Given the description of an element on the screen output the (x, y) to click on. 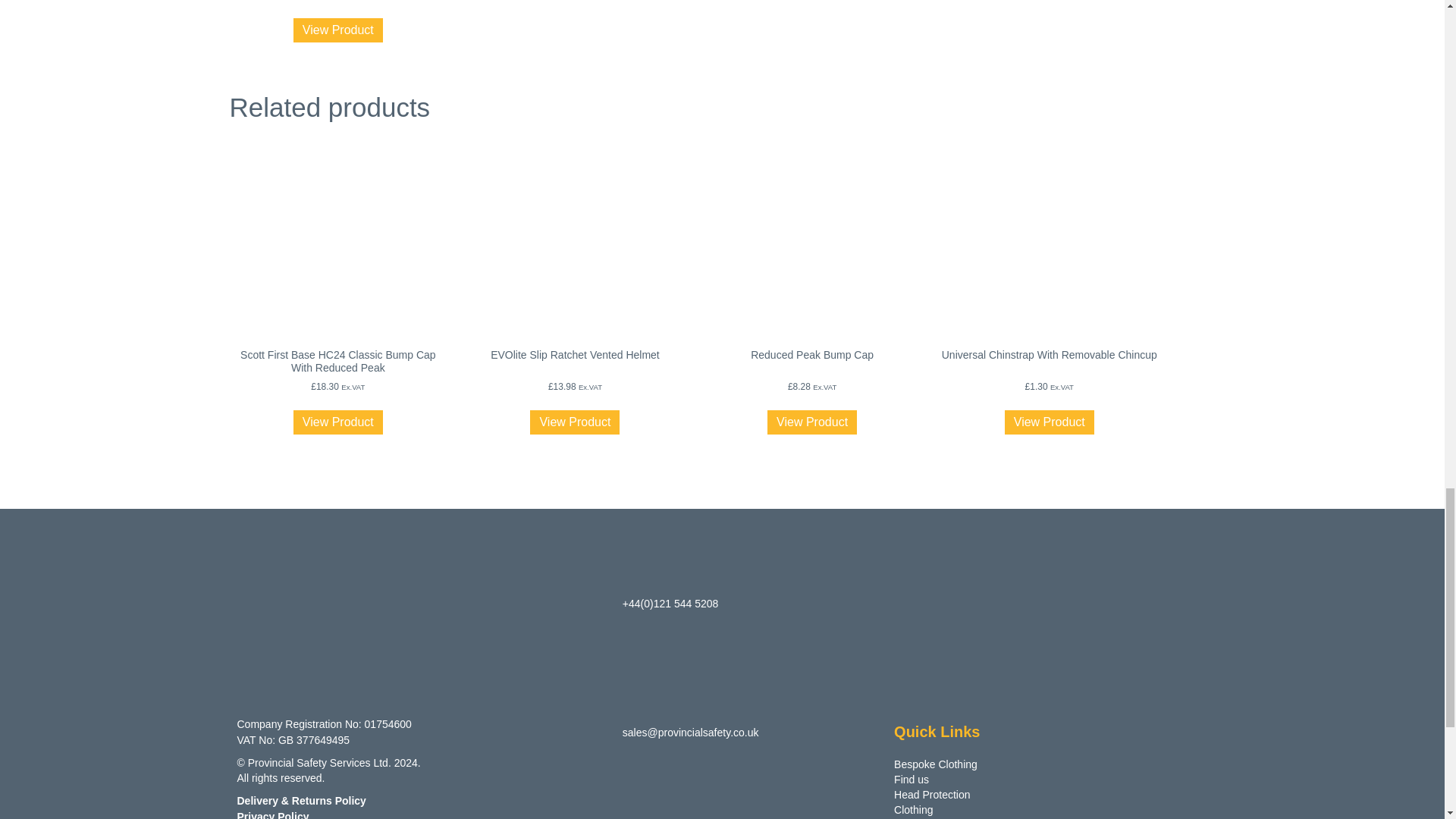
Ps Footer (341, 672)
View Product (338, 422)
View Product (338, 30)
